Given the description of an element on the screen output the (x, y) to click on. 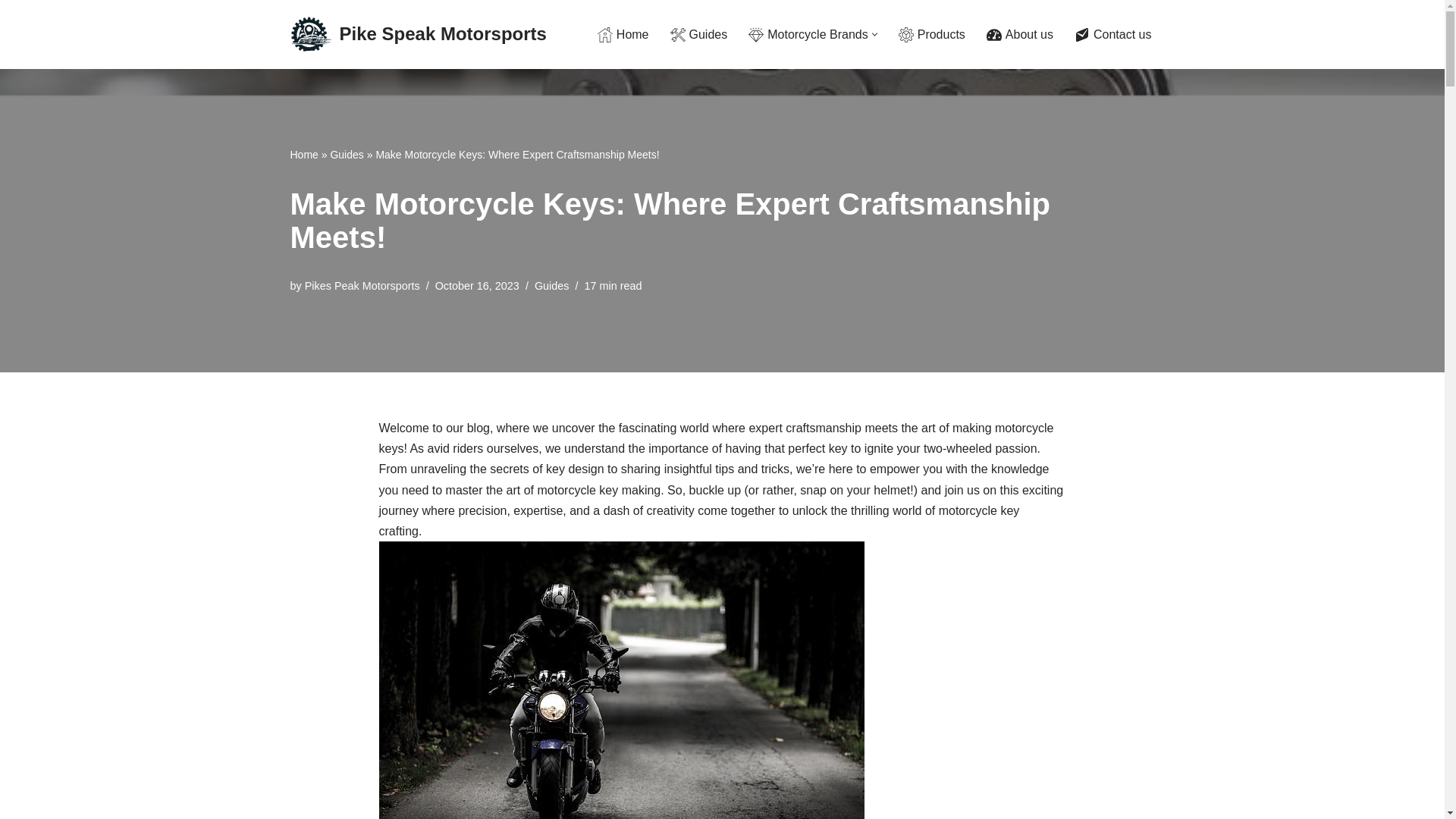
Guides (698, 34)
Home (303, 154)
Pikes Peak Motorsports (362, 285)
Posts by Pikes Peak Motorsports (362, 285)
About us (1019, 34)
Pike Speak Motorsports (417, 34)
Motorcycle Brands (807, 34)
Products (931, 34)
Skip to content (11, 31)
Home (622, 34)
